Given the description of an element on the screen output the (x, y) to click on. 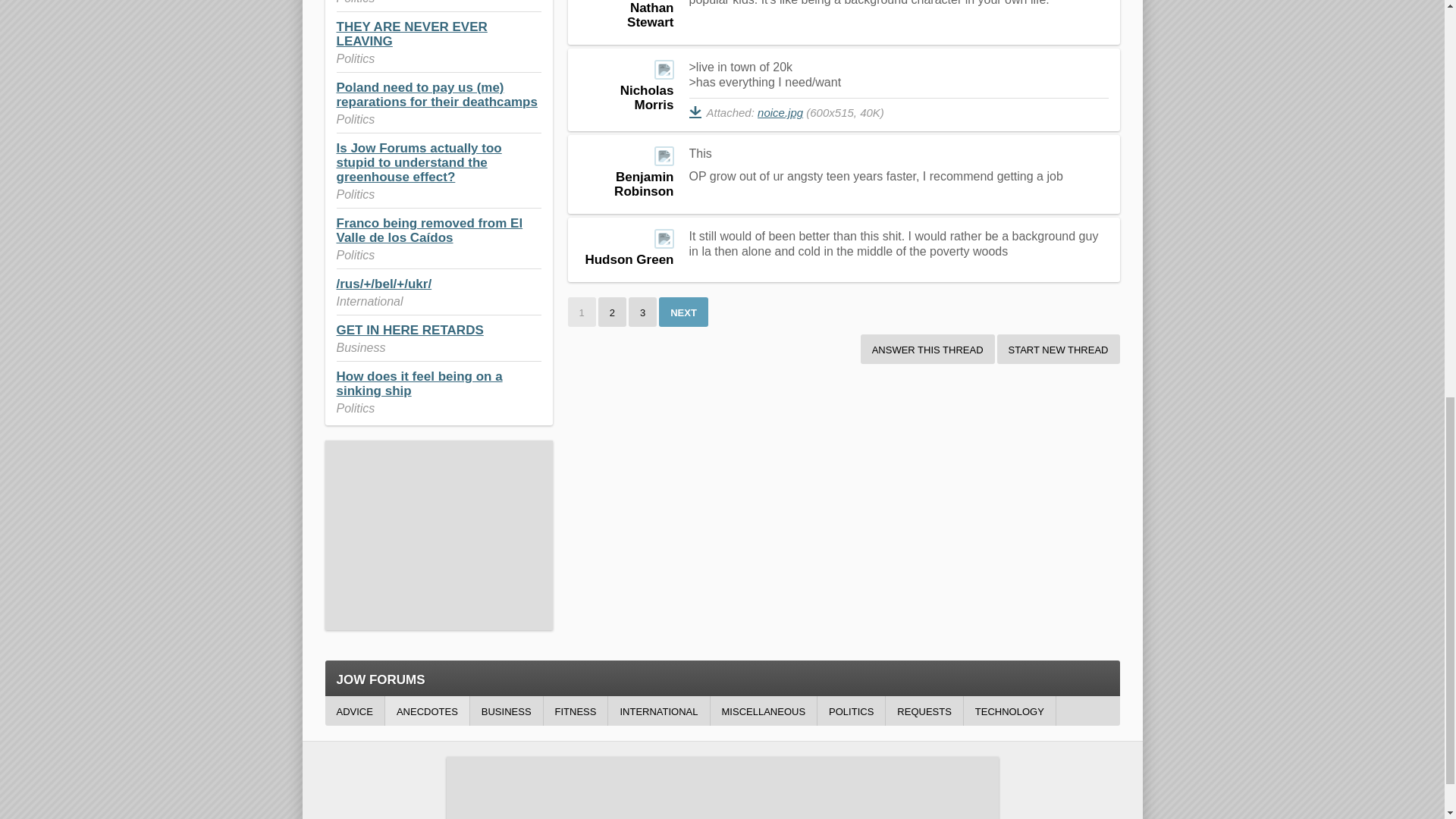
START NEW THREAD (1058, 348)
NEXT (683, 311)
GET IN HERE RETARDS (409, 329)
ANSWER THIS THREAD (927, 348)
noice.jpg (780, 112)
THEY ARE NEVER EVER LEAVING (411, 33)
3 (642, 311)
2 (612, 311)
